Given the description of an element on the screen output the (x, y) to click on. 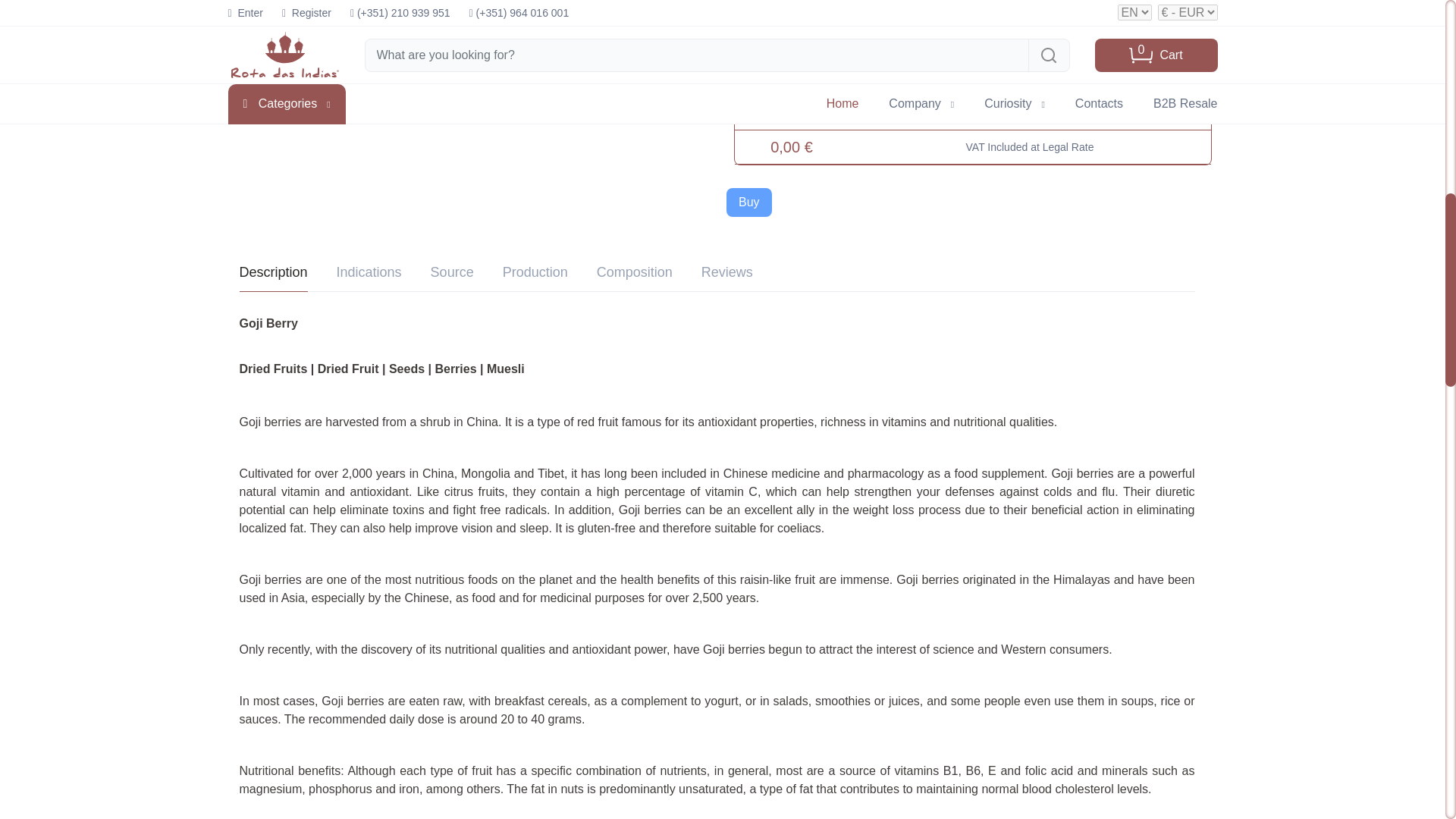
0 (791, 46)
0 (791, 1)
0 (791, 101)
